Given the description of an element on the screen output the (x, y) to click on. 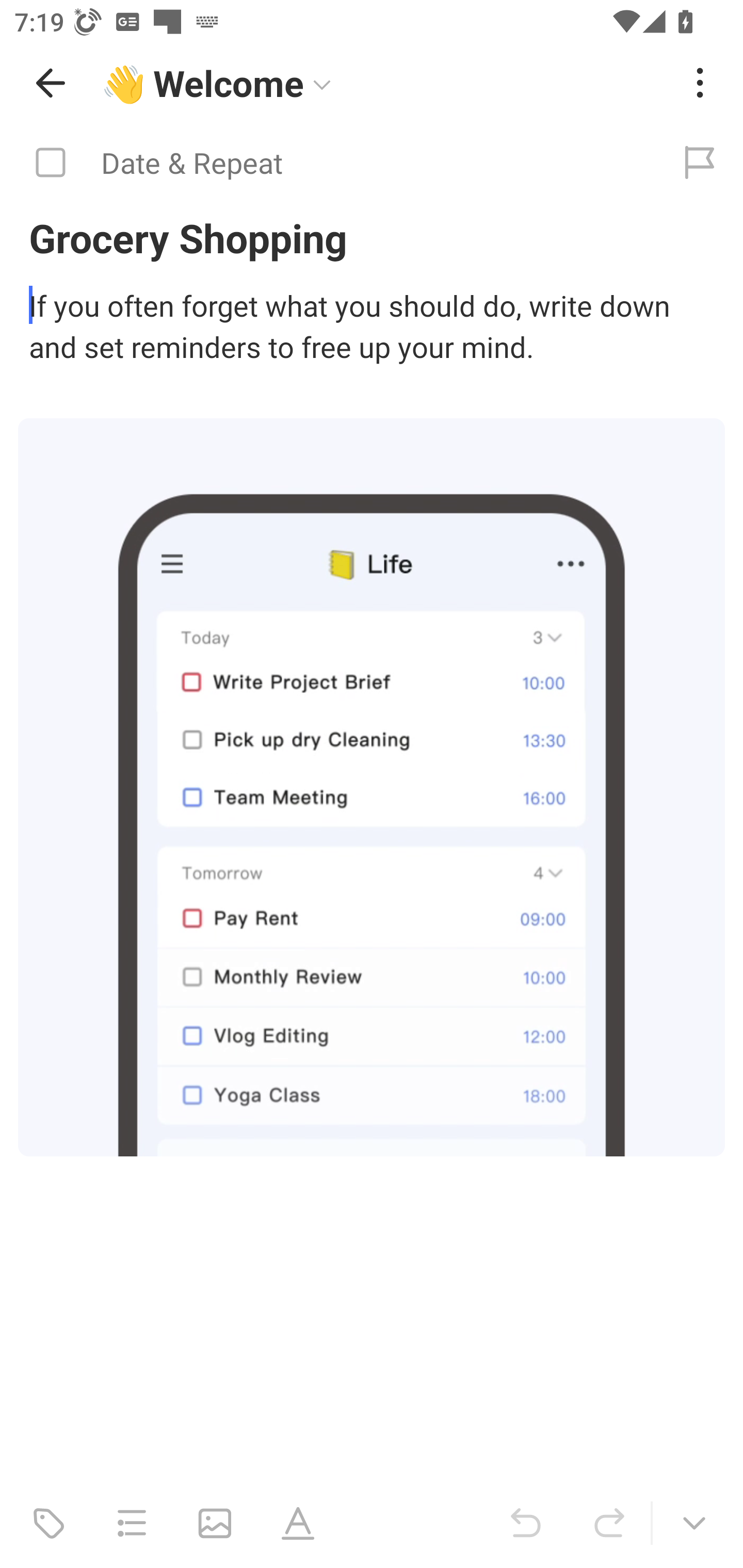
👋 Welcome (384, 82)
Date & Repeat (328, 163)
Grocery Shopping (371, 237)
